Given the description of an element on the screen output the (x, y) to click on. 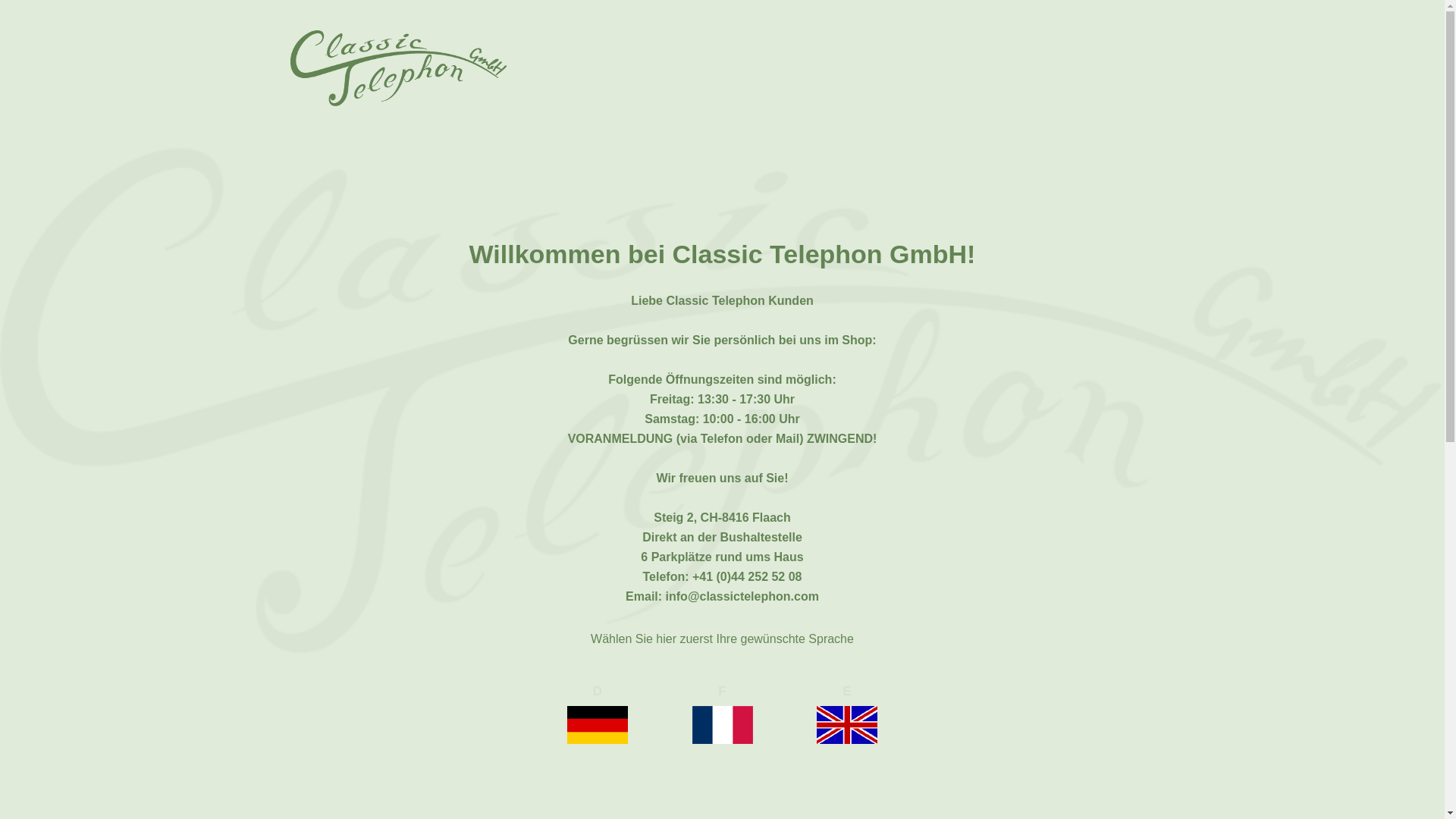
F Element type: text (721, 711)
D Element type: text (597, 711)
E Element type: text (846, 711)
